Given the description of an element on the screen output the (x, y) to click on. 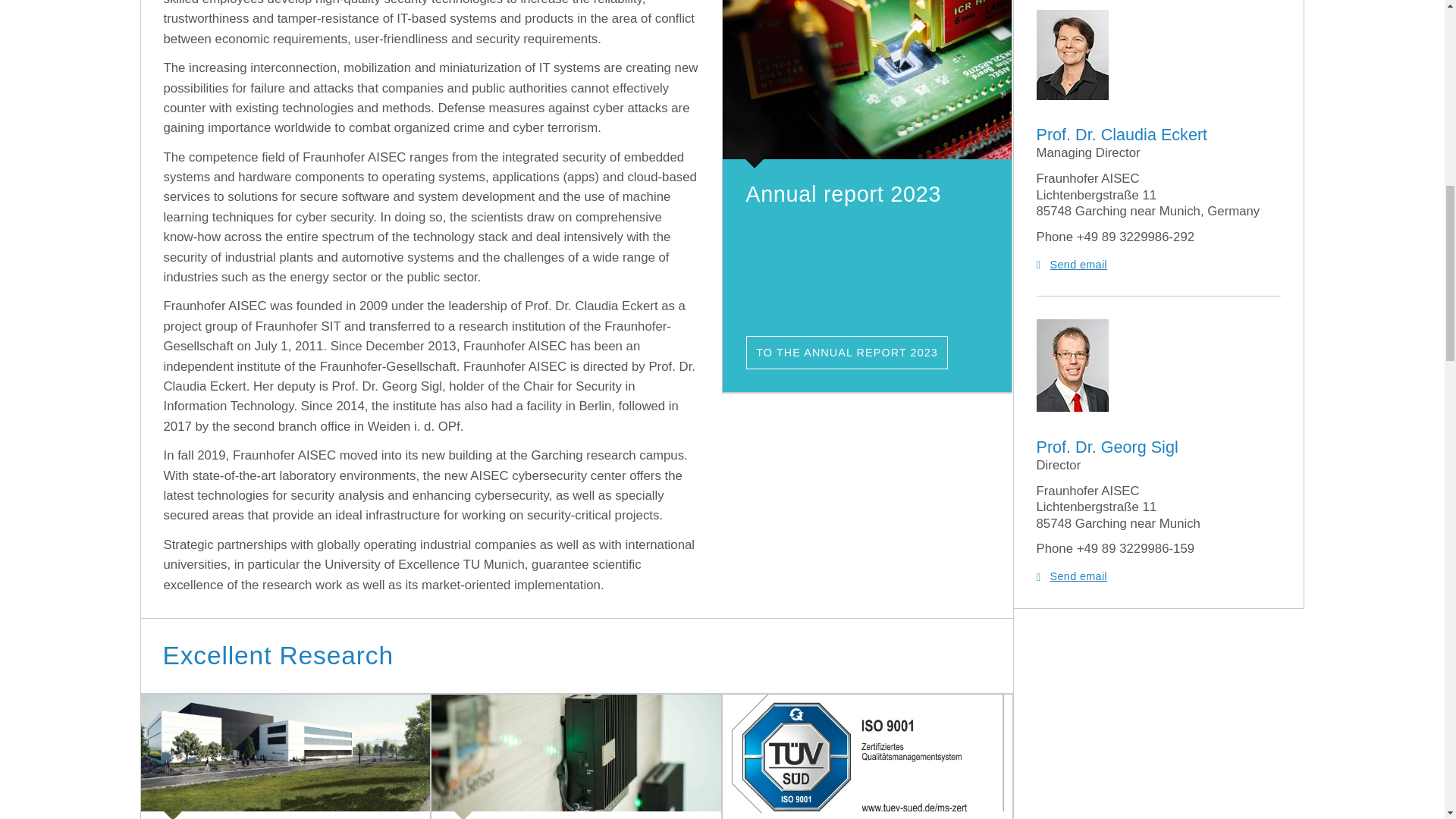
More (866, 756)
To the annual report 2023 (866, 84)
To the annual report 2023 (846, 352)
More (285, 756)
More (575, 756)
